Given the description of an element on the screen output the (x, y) to click on. 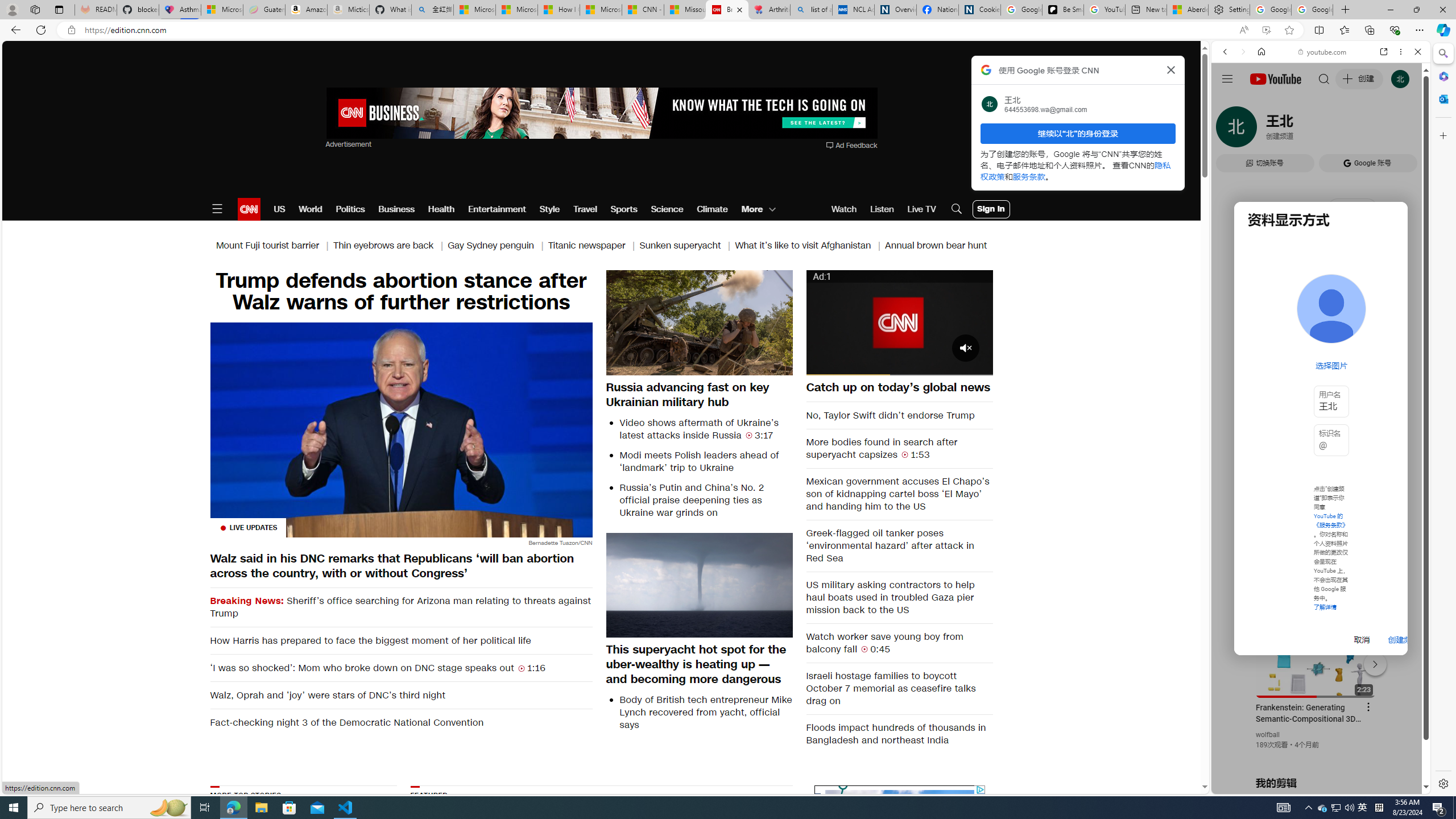
Search videos from youtube.com (1299, 373)
NCL Adult Asthma Inhaler Choice Guideline (853, 9)
Be Smart | creating Science videos | Patreon (1062, 9)
Open Menu Icon (216, 208)
Annual brown bear hunt (936, 245)
